Given the description of an element on the screen output the (x, y) to click on. 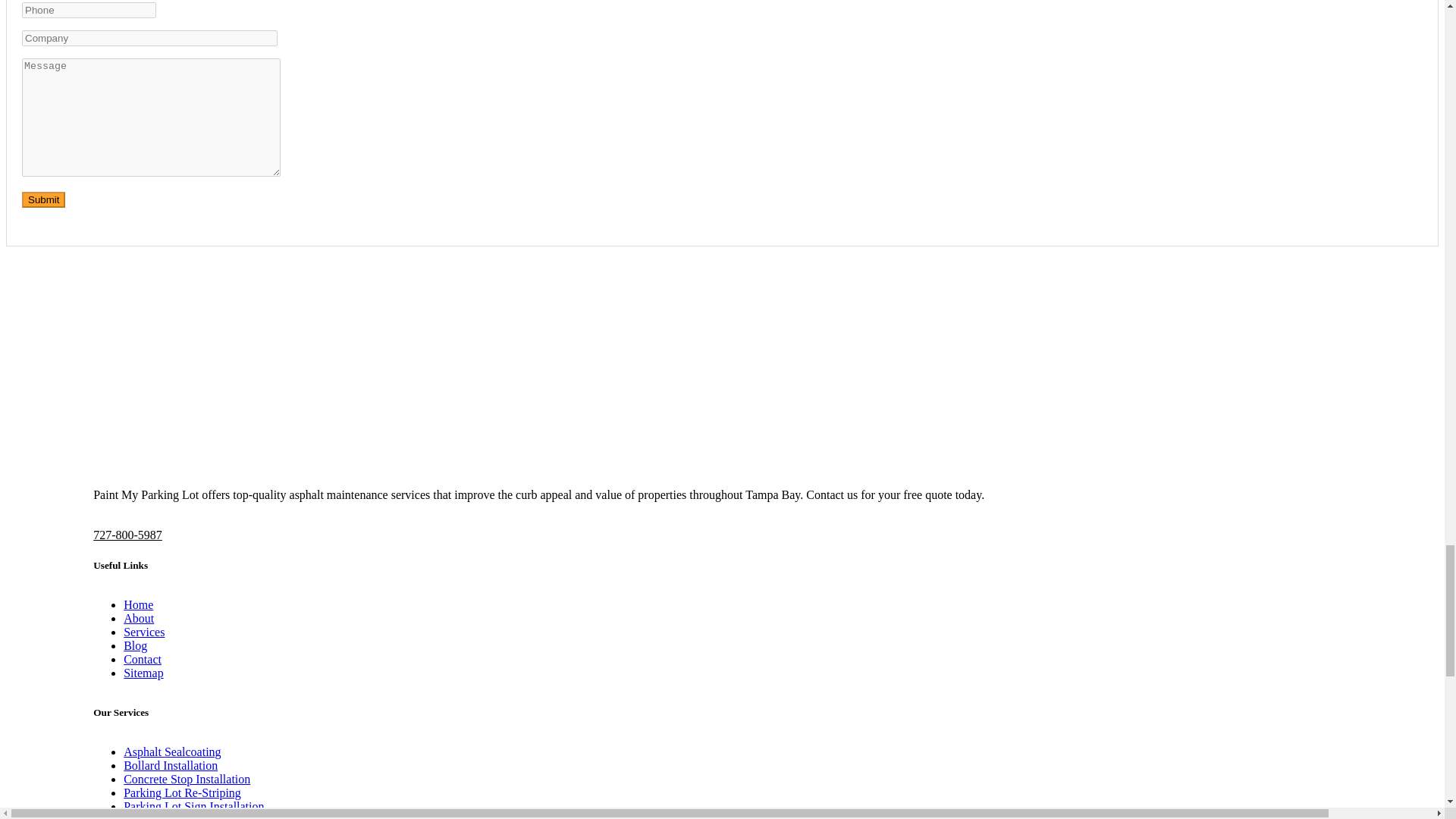
Submit (43, 199)
727-800-5987 (127, 534)
Submit (43, 199)
